Given the description of an element on the screen output the (x, y) to click on. 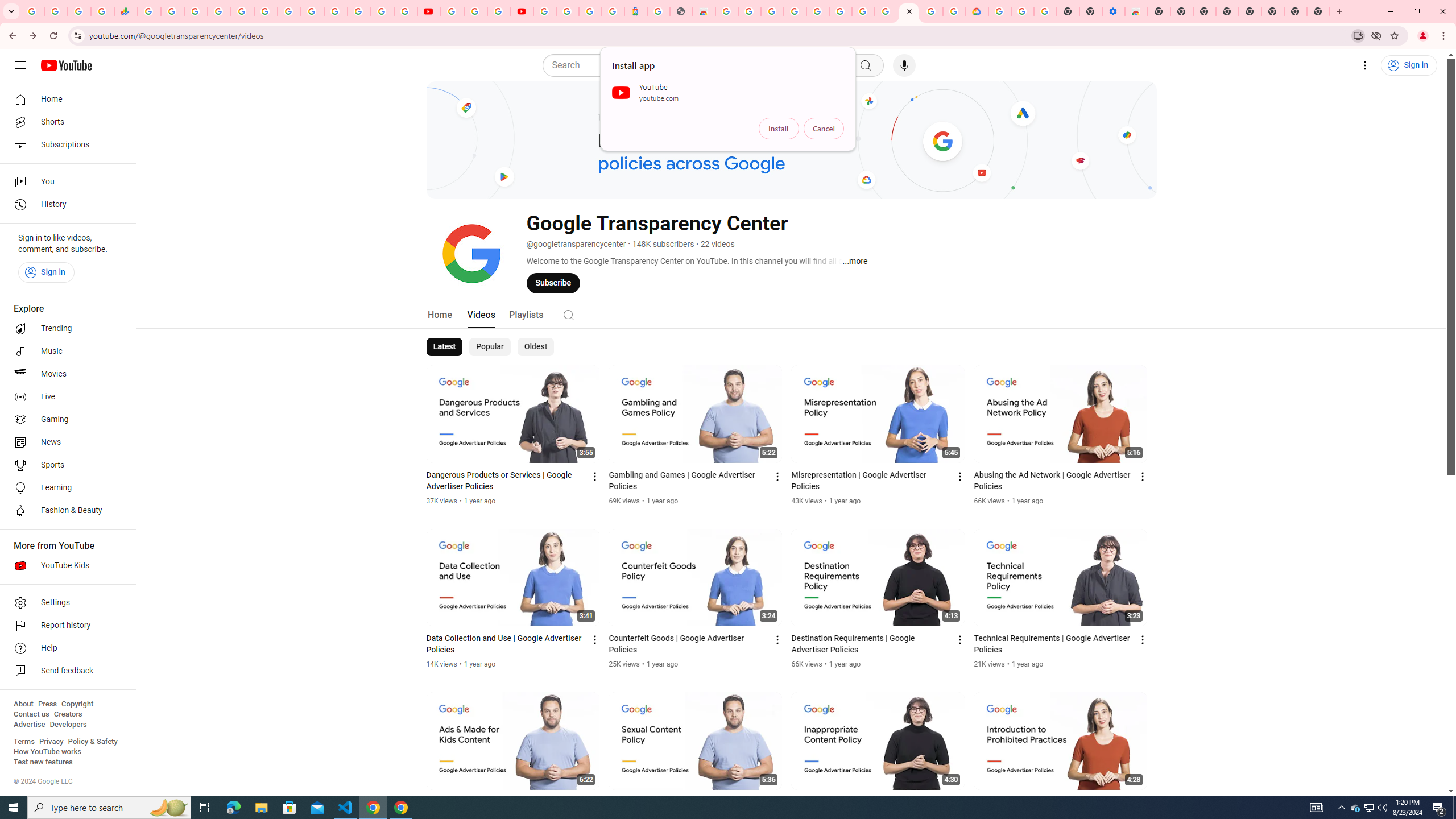
Advertise (29, 724)
Turn cookies on or off - Computer - Google Account Help (1045, 11)
Google Workspace Admin Community (32, 11)
Google Account Help (1022, 11)
Action menu (1142, 802)
Playlists (525, 314)
Shorts (64, 121)
Google Account Help (475, 11)
YouTube (428, 11)
Policy & Safety (91, 741)
YouTube (312, 11)
